Given the description of an element on the screen output the (x, y) to click on. 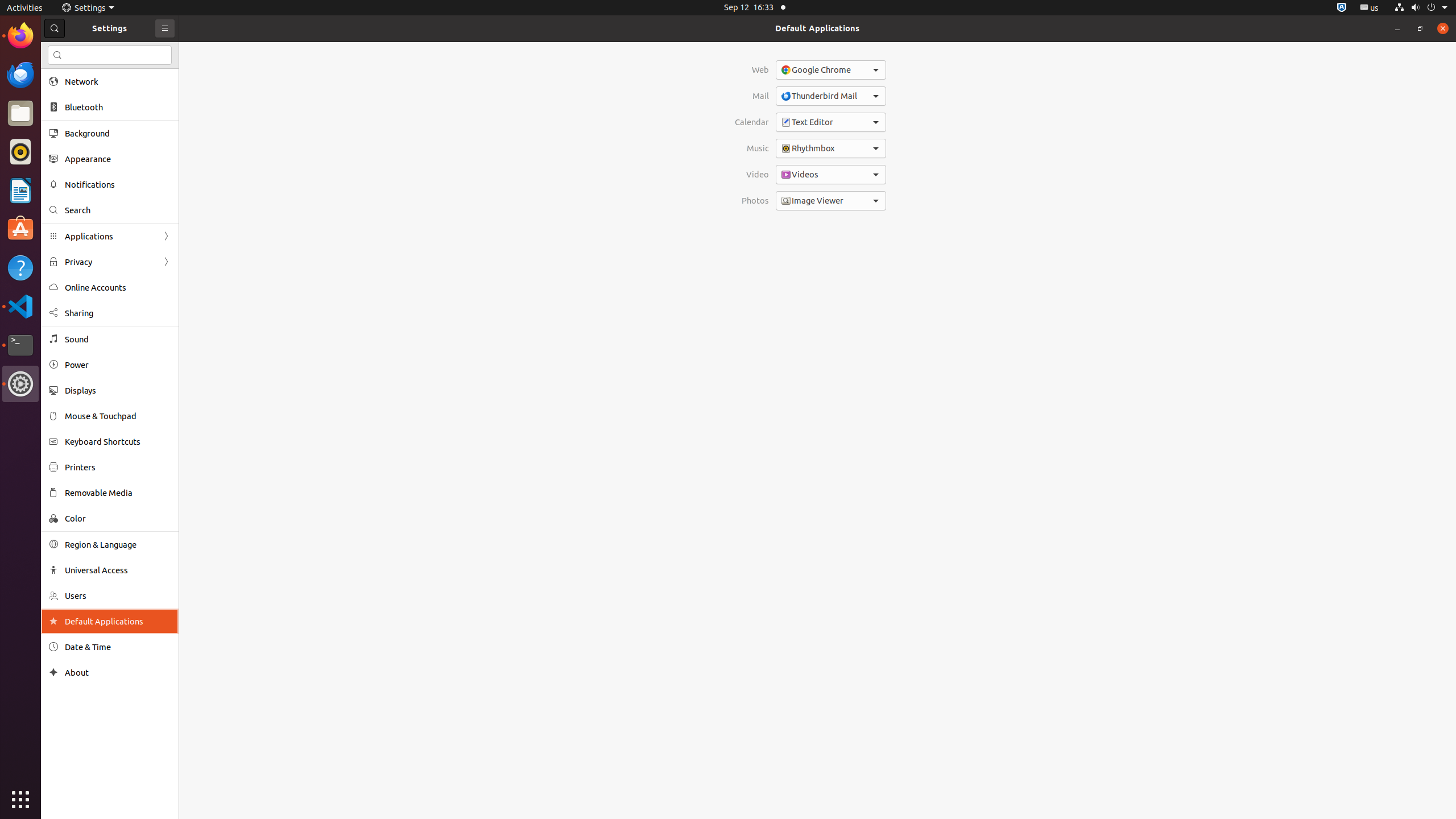
Sharing Element type: label (117, 312)
Mouse & Touchpad Element type: label (117, 415)
Background Element type: label (117, 133)
Displays Element type: label (117, 390)
Online Accounts Element type: label (117, 287)
